Given the description of an element on the screen output the (x, y) to click on. 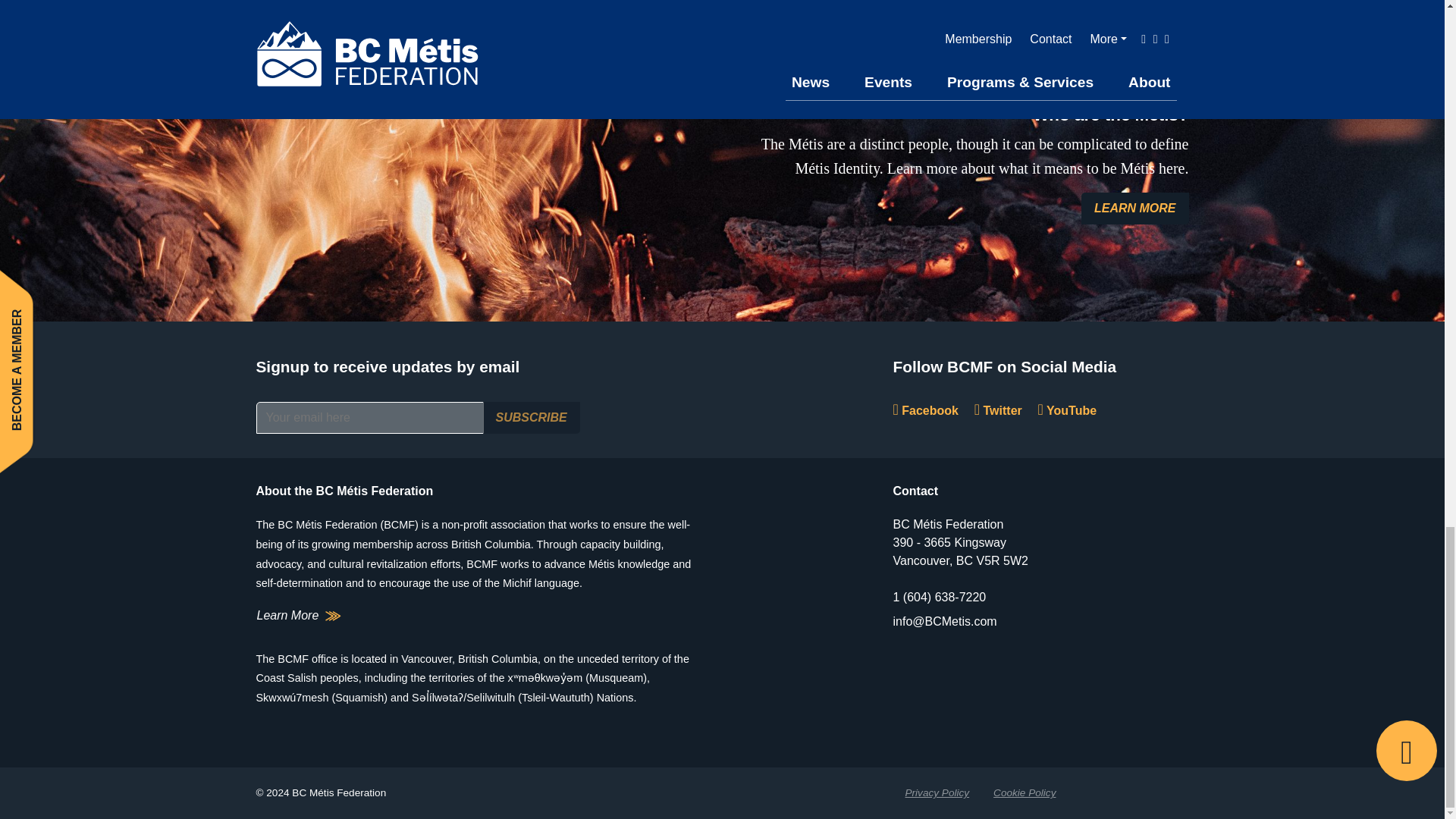
Privacy Policy (937, 792)
LEARN MORE (1135, 208)
SUBSCRIBE (530, 418)
Cookie Policy (1024, 792)
Twitter (998, 410)
YouTube (1067, 410)
Learn More   (299, 615)
Facebook (925, 410)
Cookie Policy (1024, 792)
Privacy Policy (937, 792)
